Given the description of an element on the screen output the (x, y) to click on. 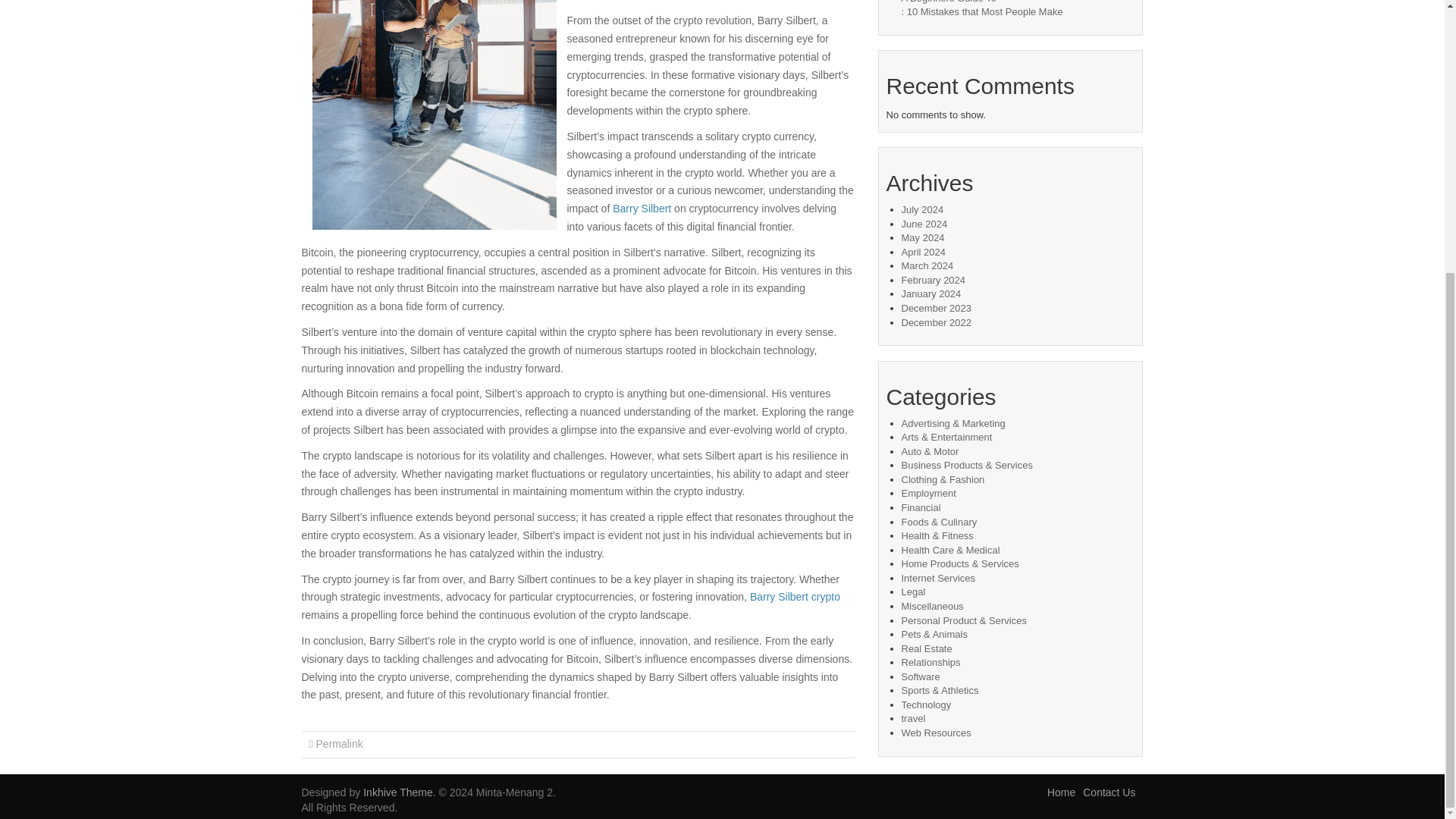
January 2024 (930, 293)
Internet Services (938, 577)
June 2024 (924, 224)
A Beginners Guide To (948, 2)
February 2024 (933, 279)
May 2024 (922, 237)
Miscellaneous (931, 605)
Barry Silbert (641, 208)
December 2023 (936, 307)
July 2024 (922, 209)
December 2022 (936, 322)
Financial (920, 507)
Barry Silbert crypto (794, 596)
March 2024 (927, 265)
Permalink (338, 743)
